Given the description of an element on the screen output the (x, y) to click on. 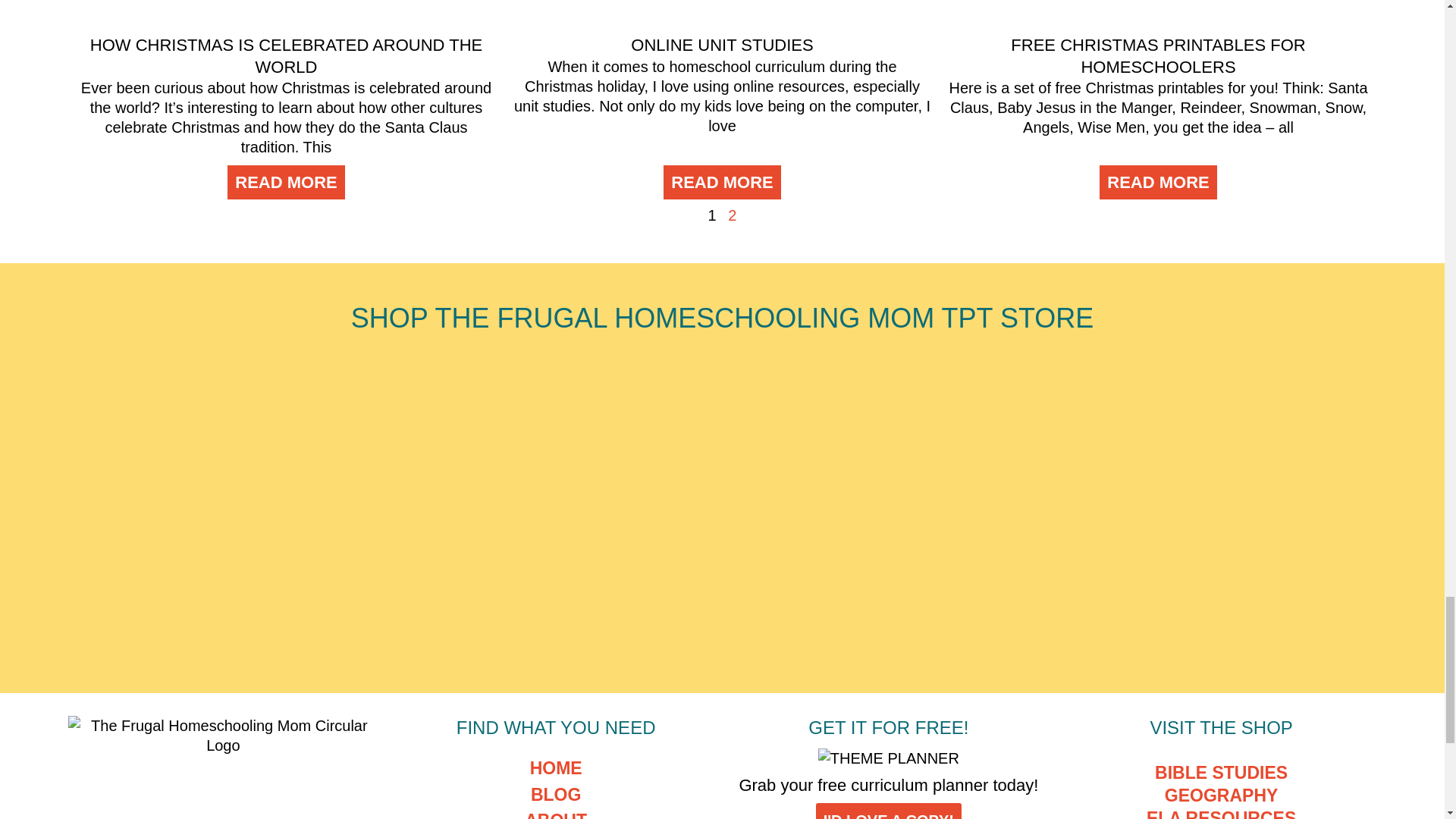
HOW CHRISTMAS IS CELEBRATED AROUND THE WORLD (285, 56)
THEME PLANNER (888, 758)
READ MORE (285, 182)
